Given the description of an element on the screen output the (x, y) to click on. 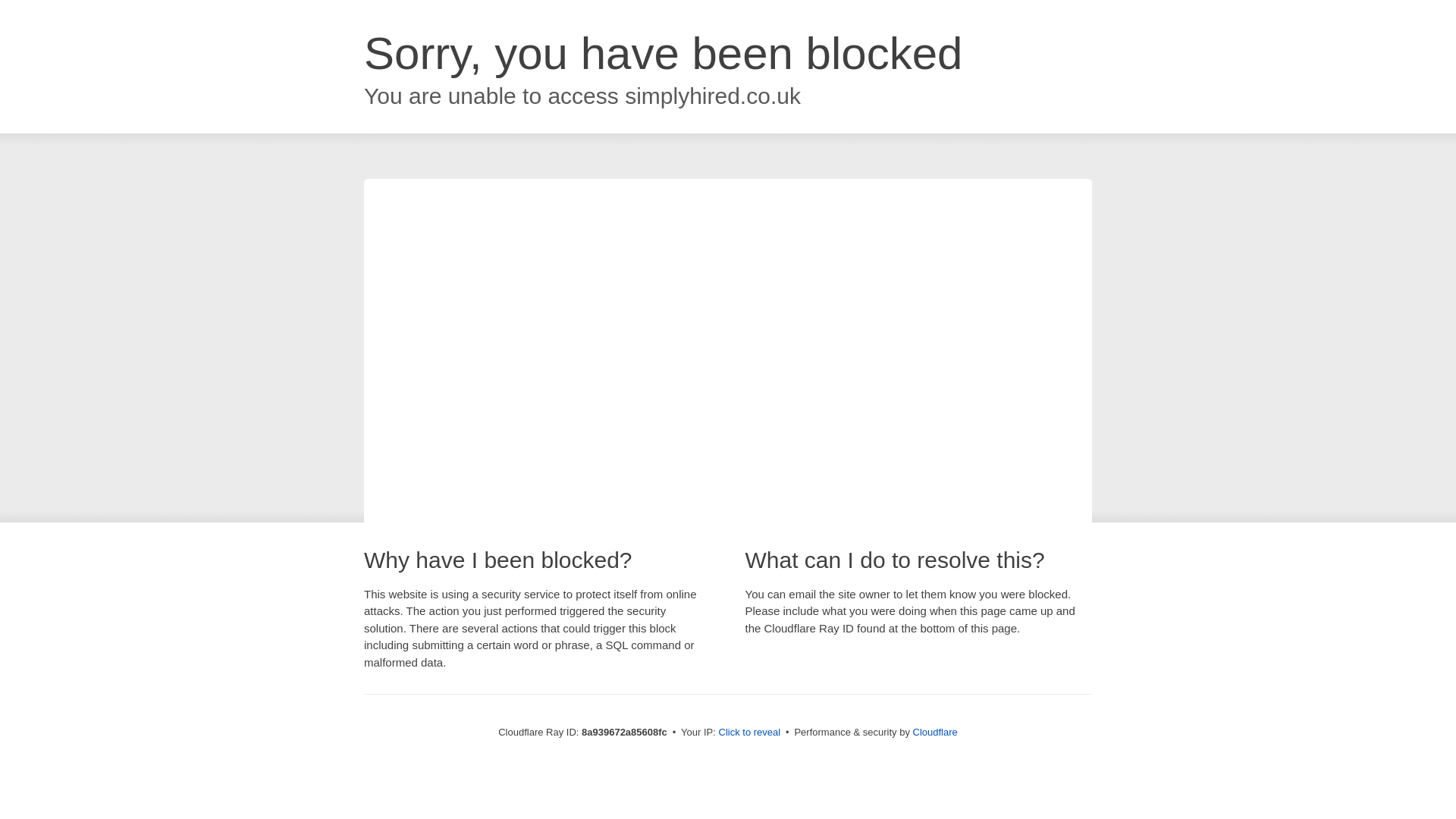
Cloudflare (935, 731)
Click to reveal (749, 732)
